Given the description of an element on the screen output the (x, y) to click on. 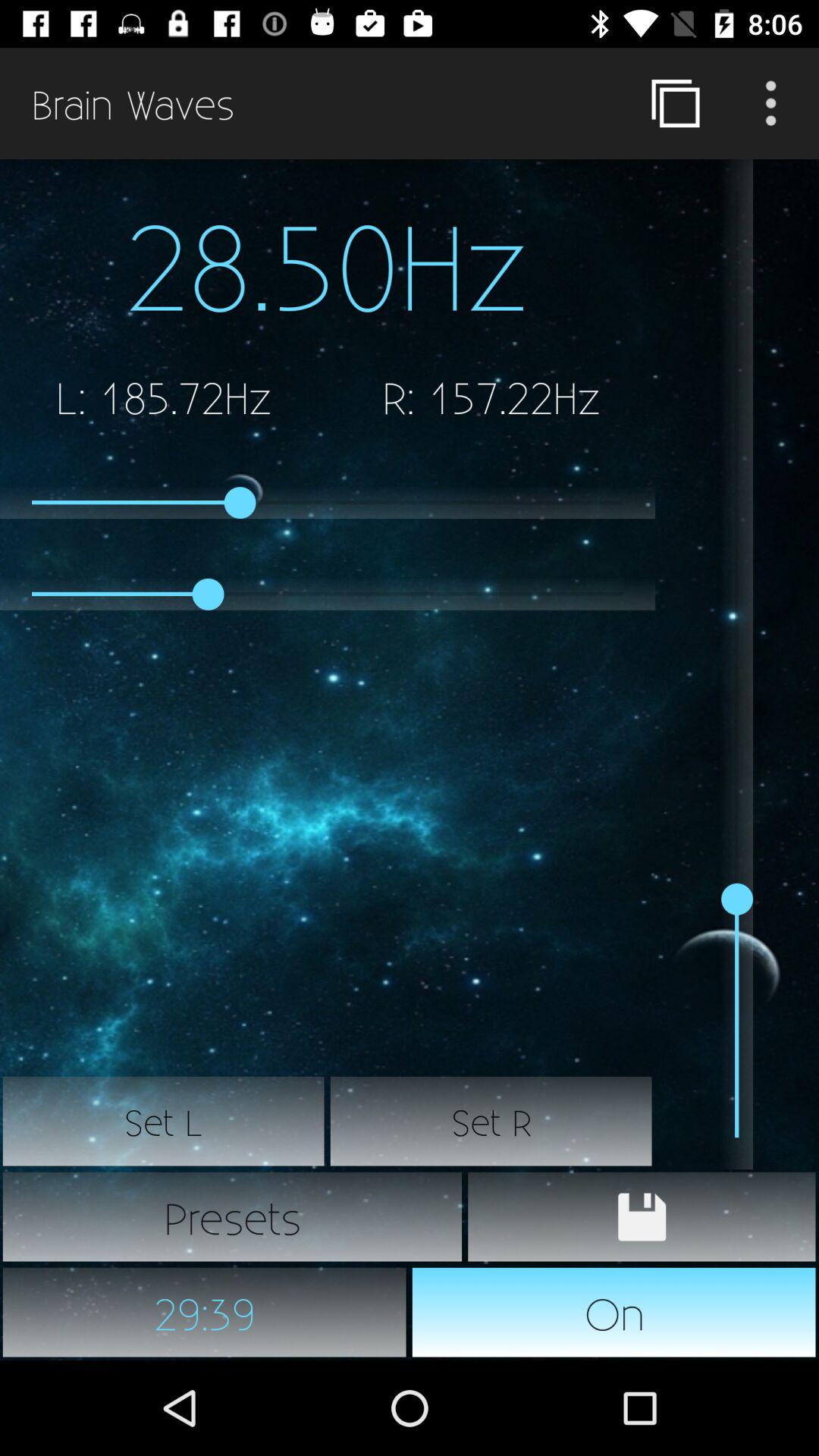
launch icon to the right of the presets icon (642, 1216)
